Given the description of an element on the screen output the (x, y) to click on. 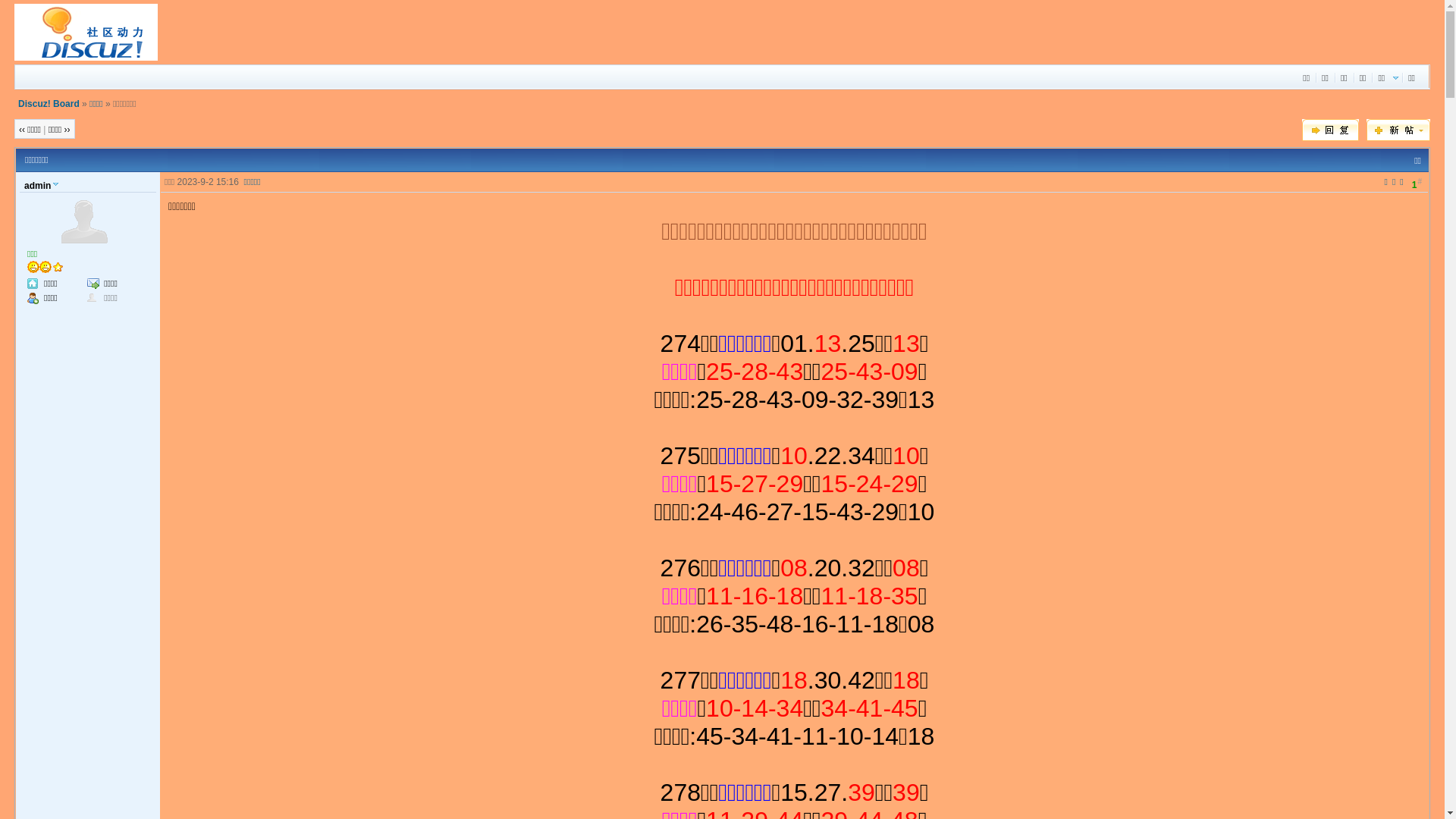
Discuz! Board Element type: text (48, 103)
1# Element type: text (1416, 183)
admin Element type: text (40, 183)
Discuz! Board Element type: hover (85, 57)
